Given the description of an element on the screen output the (x, y) to click on. 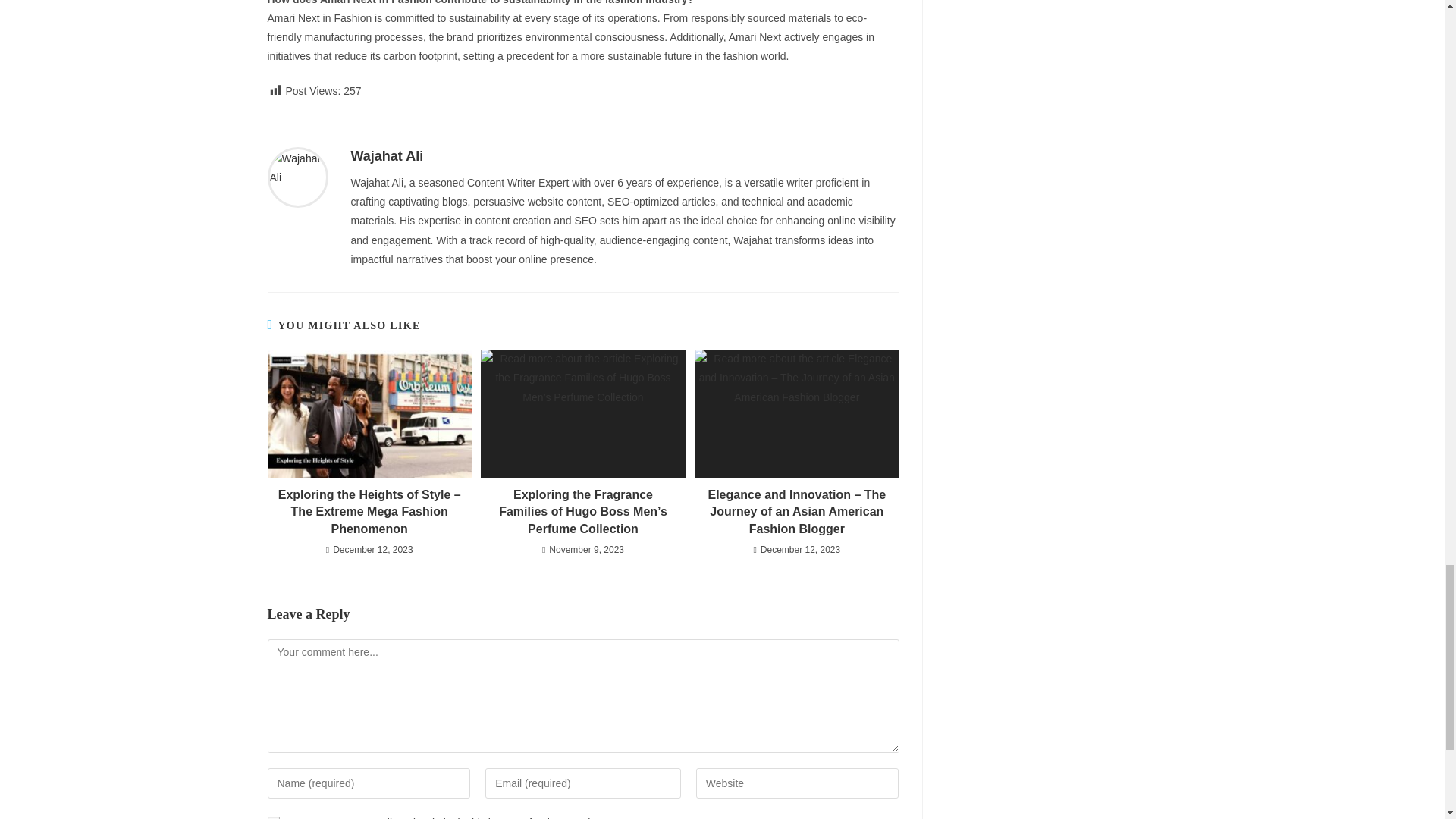
Visit author page (386, 155)
Visit author page (296, 177)
